Given the description of an element on the screen output the (x, y) to click on. 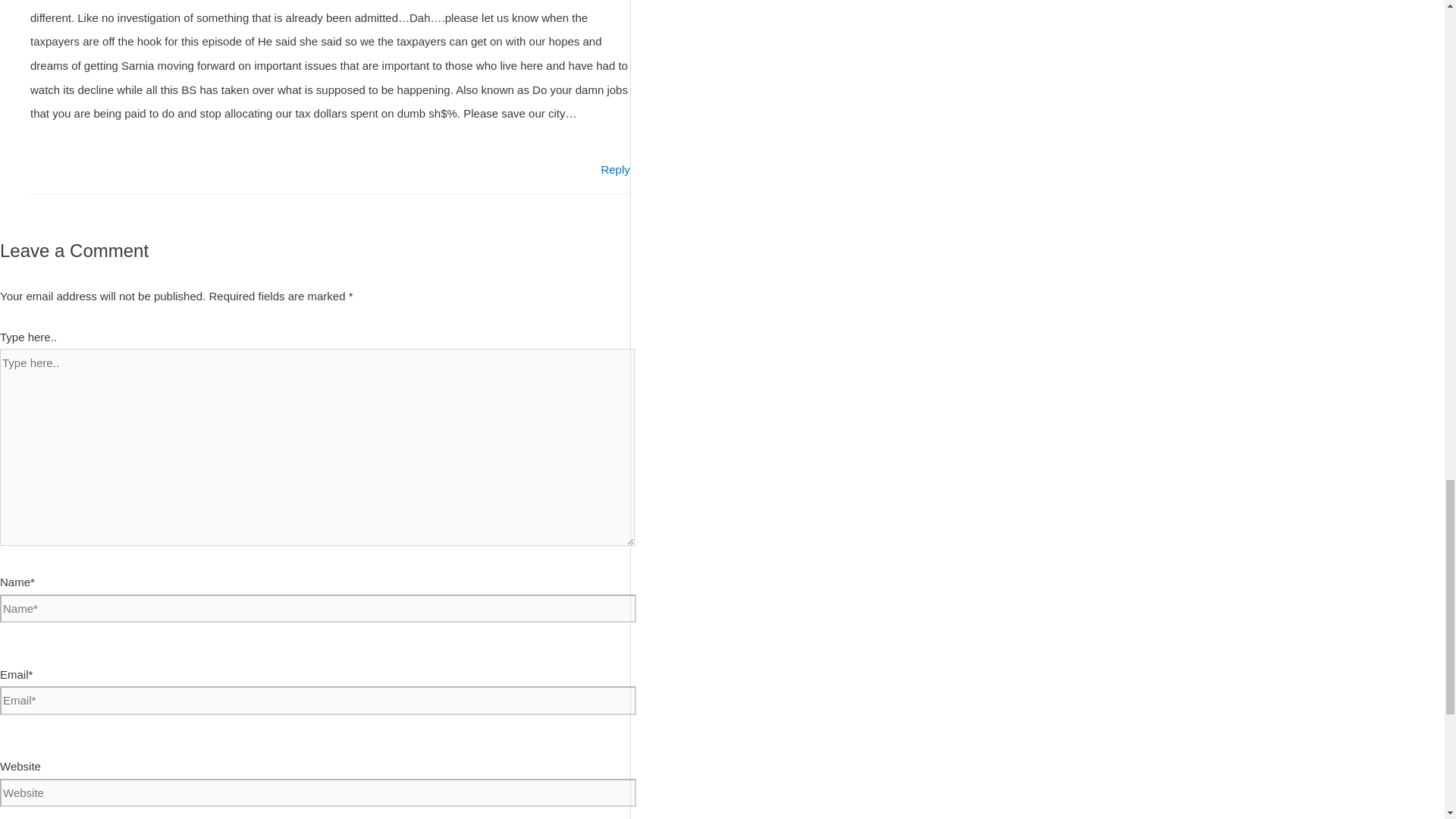
Reply (613, 169)
